Given the description of an element on the screen output the (x, y) to click on. 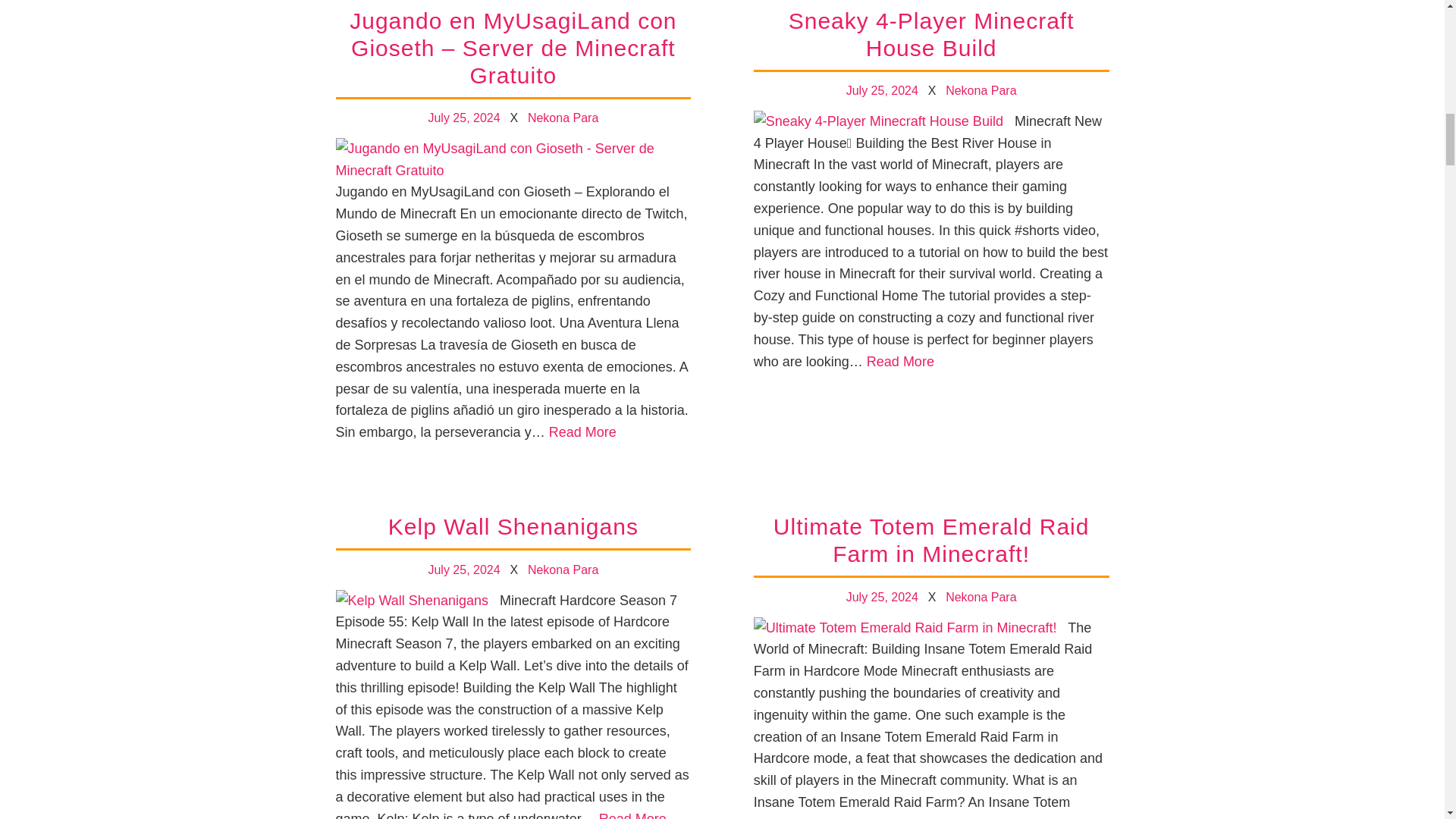
Read More (581, 432)
July 25, 2024 (463, 117)
Nekona Para (562, 117)
Sneaky 4-Player Minecraft House Build (931, 34)
